Given the description of an element on the screen output the (x, y) to click on. 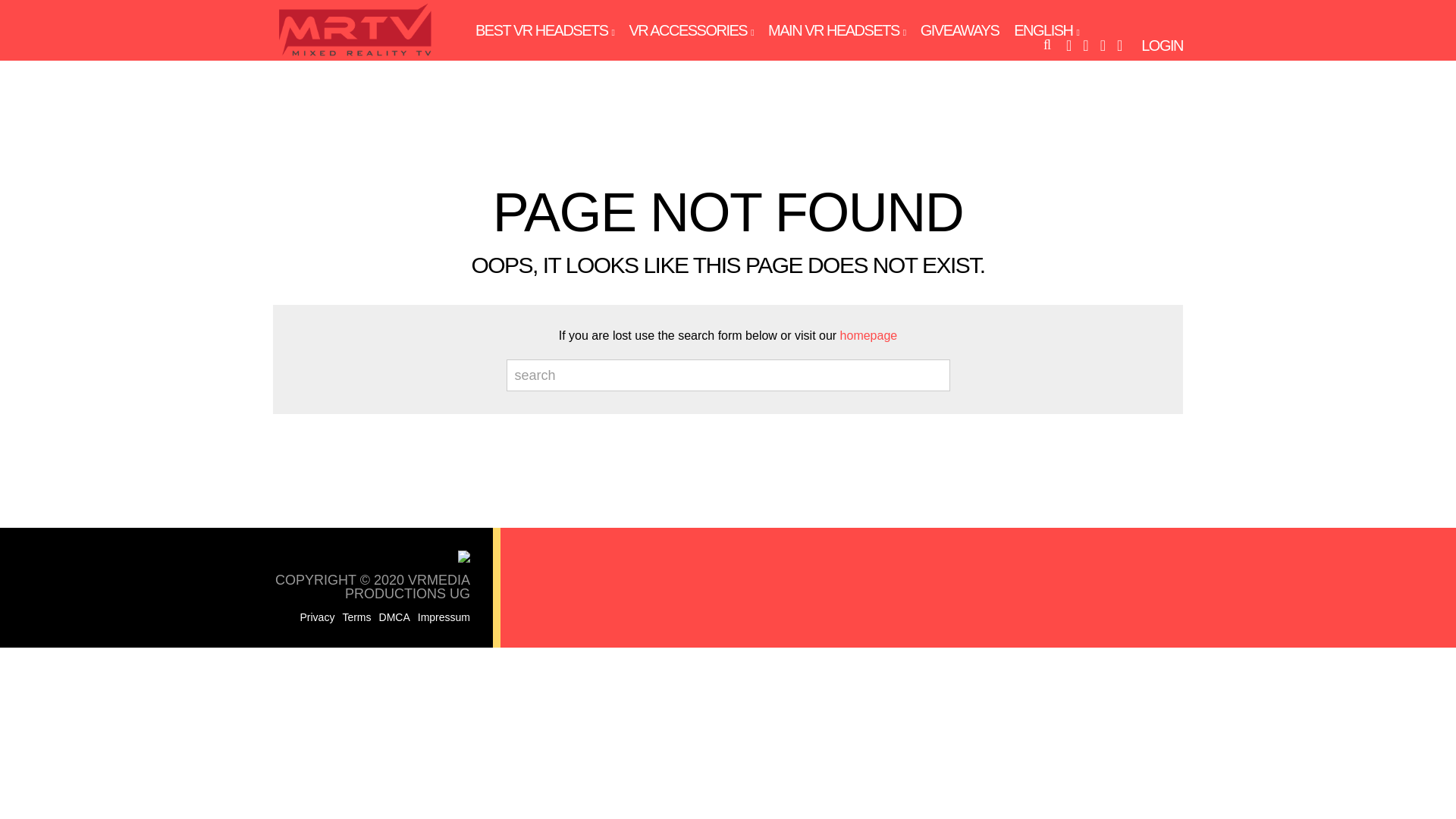
VR ACCESSORIES (690, 29)
BEST VR HEADSETS (544, 29)
